Given the description of an element on the screen output the (x, y) to click on. 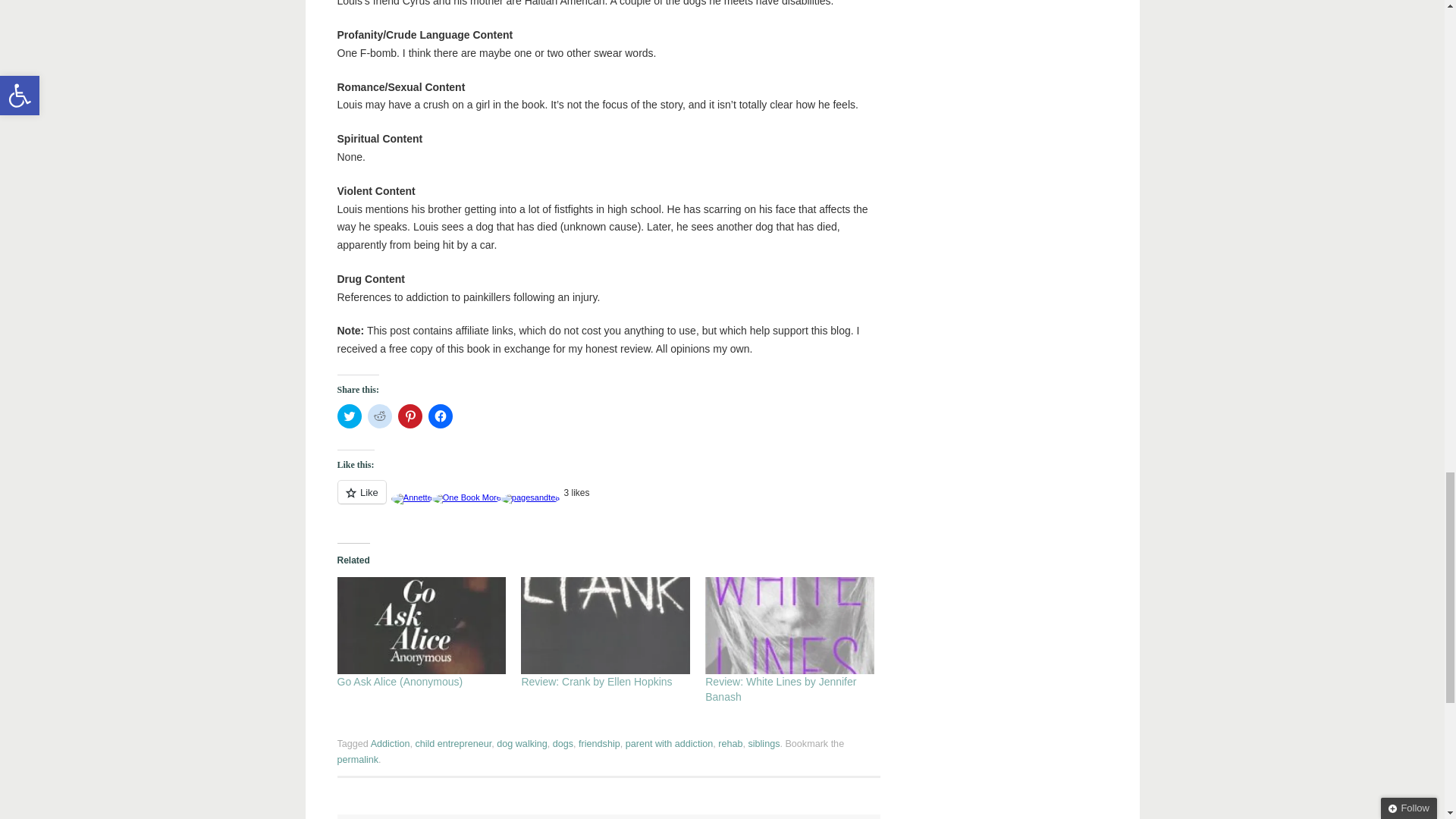
Click to share on Twitter (348, 416)
